Given the description of an element on the screen output the (x, y) to click on. 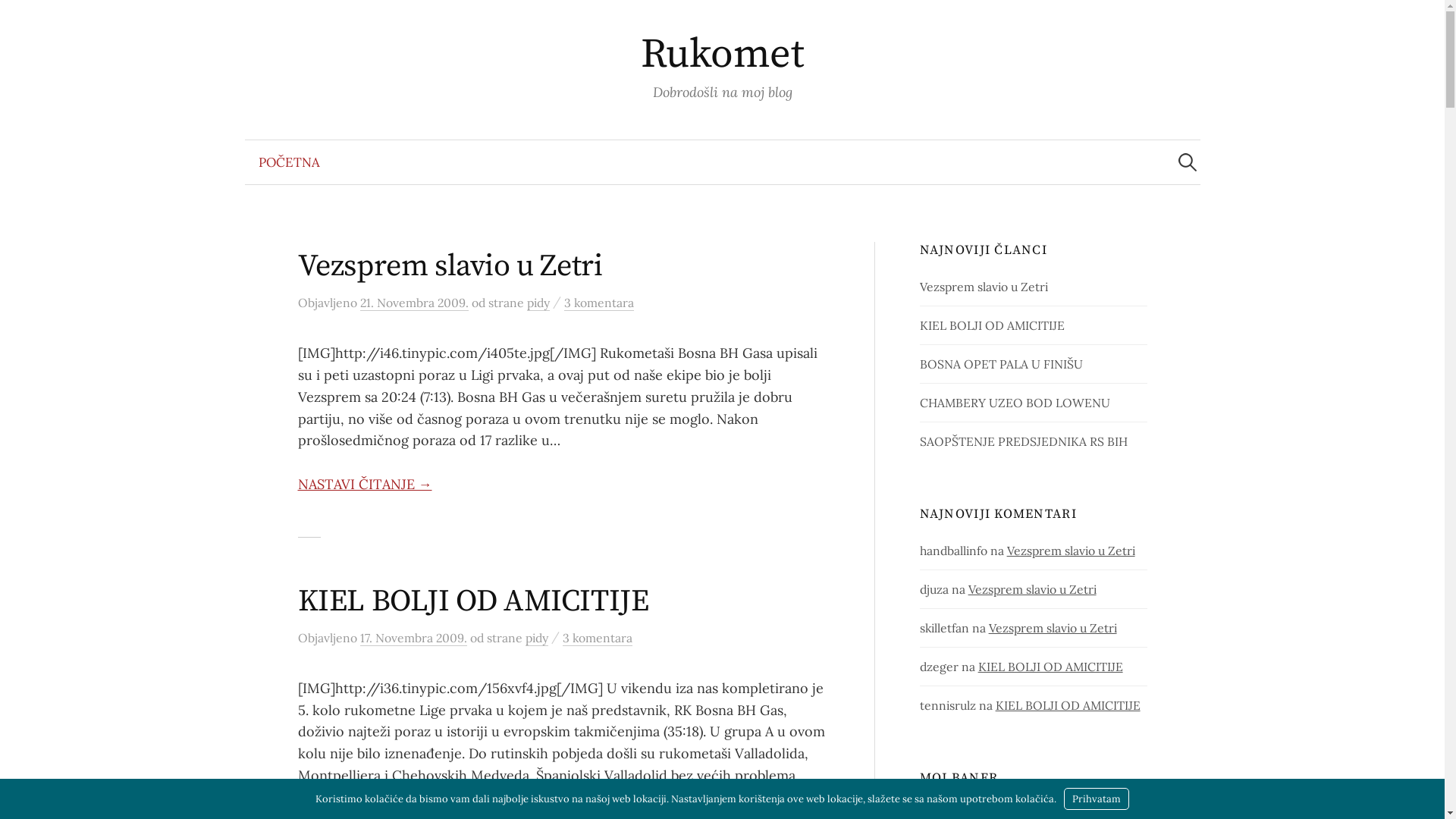
pidy Element type: text (535, 638)
Prihvatam Element type: text (1096, 798)
KIEL BOLJI OD AMICITIJE Element type: text (991, 324)
3 komentara
za KIEL BOLJI OD AMICITIJE Element type: text (597, 638)
KIEL BOLJI OD AMICITIJE Element type: text (472, 601)
Vezsprem slavio u Zetri Element type: text (449, 266)
CHAMBERY UZEO BOD LOWENU Element type: text (1014, 402)
Rukomet Element type: text (721, 54)
17. Novembra 2009. Element type: text (412, 638)
KIEL BOLJI OD AMICITIJE Element type: text (1050, 666)
Pretraga Element type: text (18, 18)
Vezsprem slavio u Zetri Element type: text (1032, 588)
21. Novembra 2009. Element type: text (413, 302)
Vezsprem slavio u Zetri Element type: text (1052, 627)
3 komentara
za Vezsprem slavio u Zetri Element type: text (598, 302)
KIEL BOLJI OD AMICITIJE Element type: text (1067, 704)
Vezsprem slavio u Zetri Element type: text (983, 286)
pidy Element type: text (537, 302)
Vezsprem slavio u Zetri Element type: text (1071, 550)
